Given the description of an element on the screen output the (x, y) to click on. 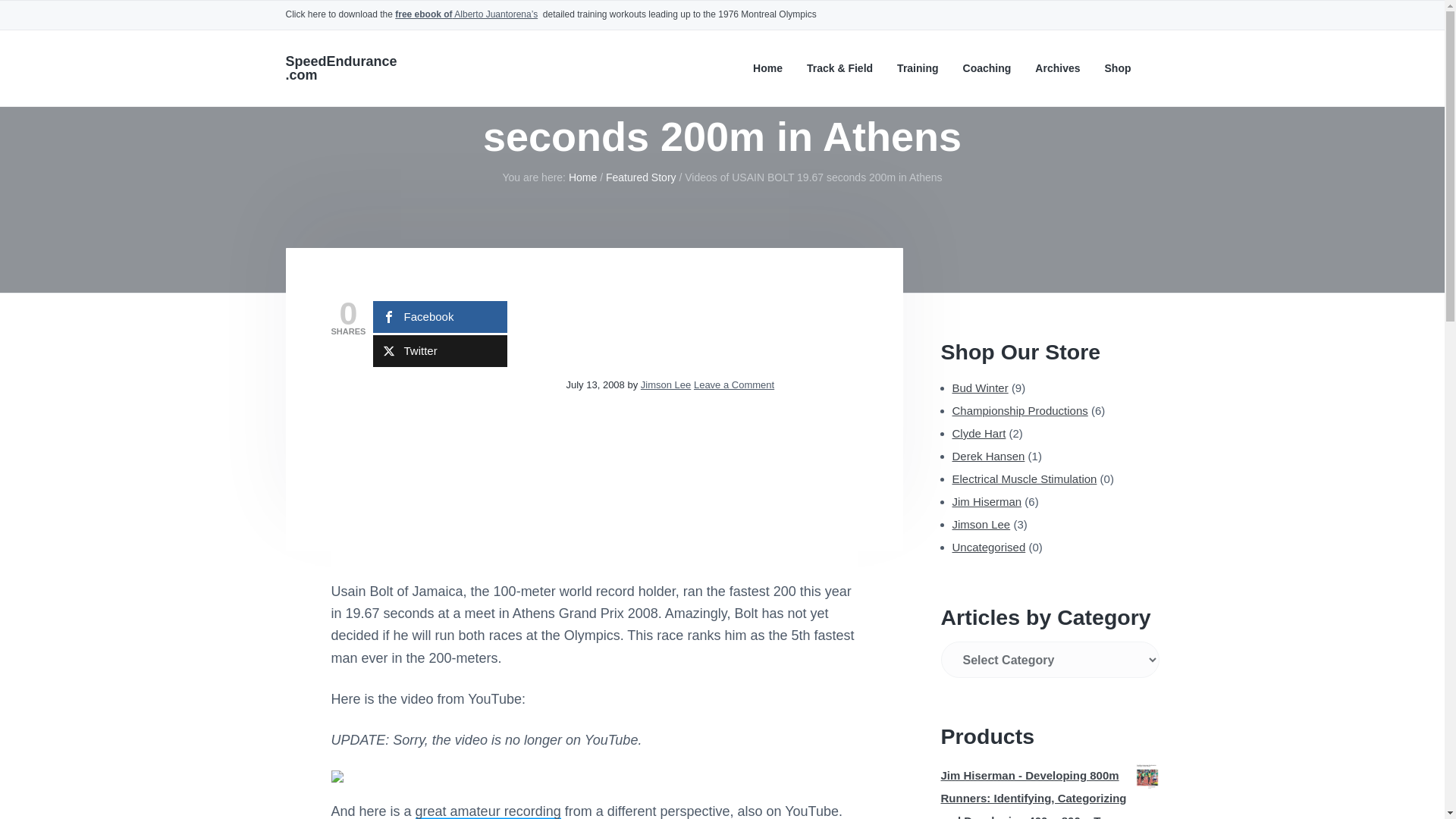
Archives (1057, 67)
Jimson Lee (665, 384)
Leave a Comment (734, 384)
Twitter (439, 350)
SpeedEndurance.com (340, 68)
Home (767, 67)
Shop (1117, 67)
Training (916, 67)
Facebook (439, 316)
Home (582, 177)
great amateur recording (487, 811)
Coaching (986, 67)
Search (60, 18)
Featured Story (641, 177)
